Given the description of an element on the screen output the (x, y) to click on. 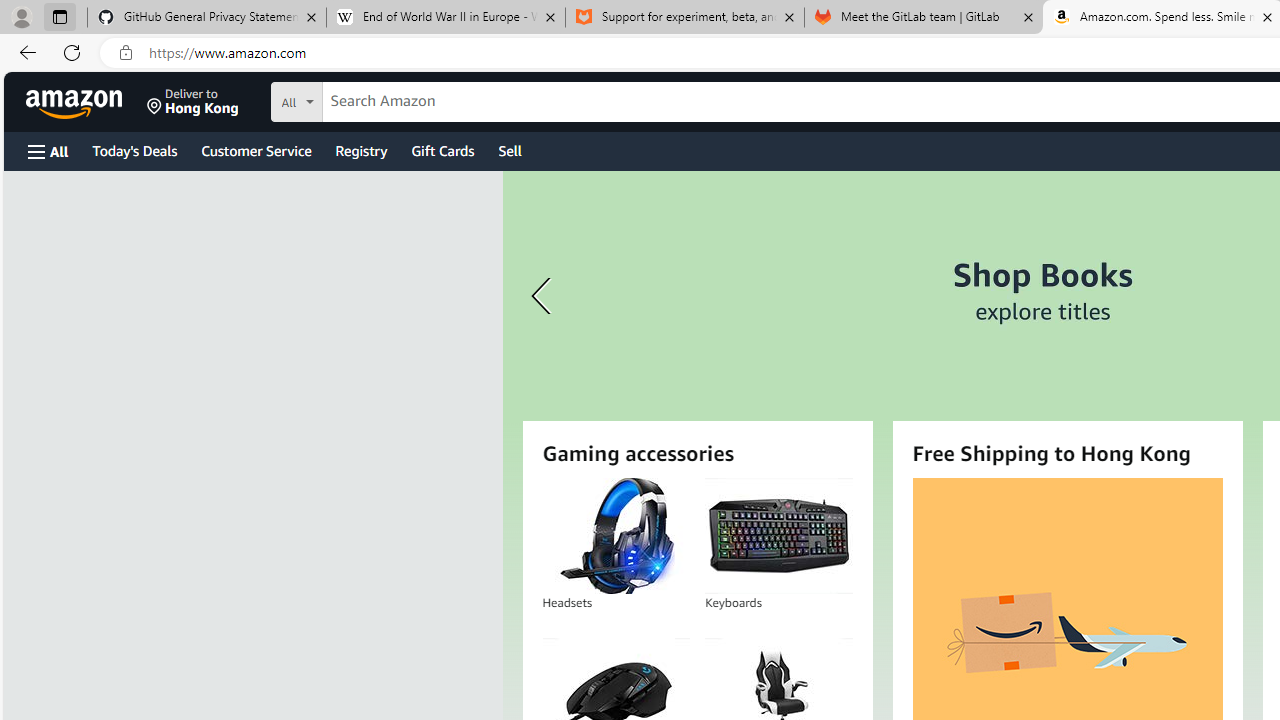
Keyboards (778, 536)
Customer Service (256, 150)
Open Menu (48, 151)
Today's Deals (134, 150)
Gift Cards (442, 150)
Previous slide (544, 296)
Search in (371, 99)
Amazon (76, 101)
Keyboards (778, 536)
Registry (360, 150)
